Given the description of an element on the screen output the (x, y) to click on. 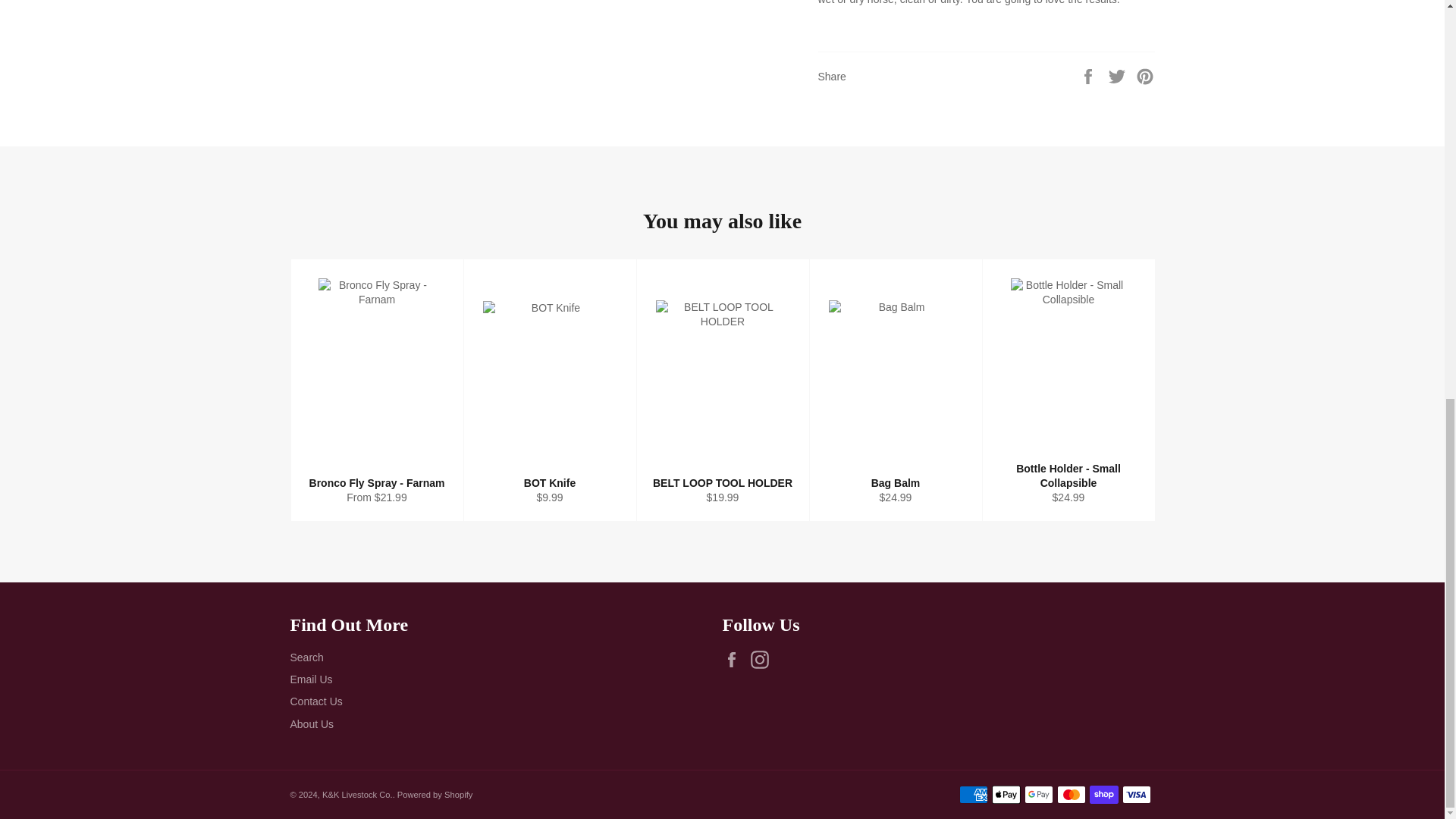
Tweet on Twitter (1118, 75)
Share on Facebook (1089, 75)
Pin on Pinterest (1144, 75)
